Given the description of an element on the screen output the (x, y) to click on. 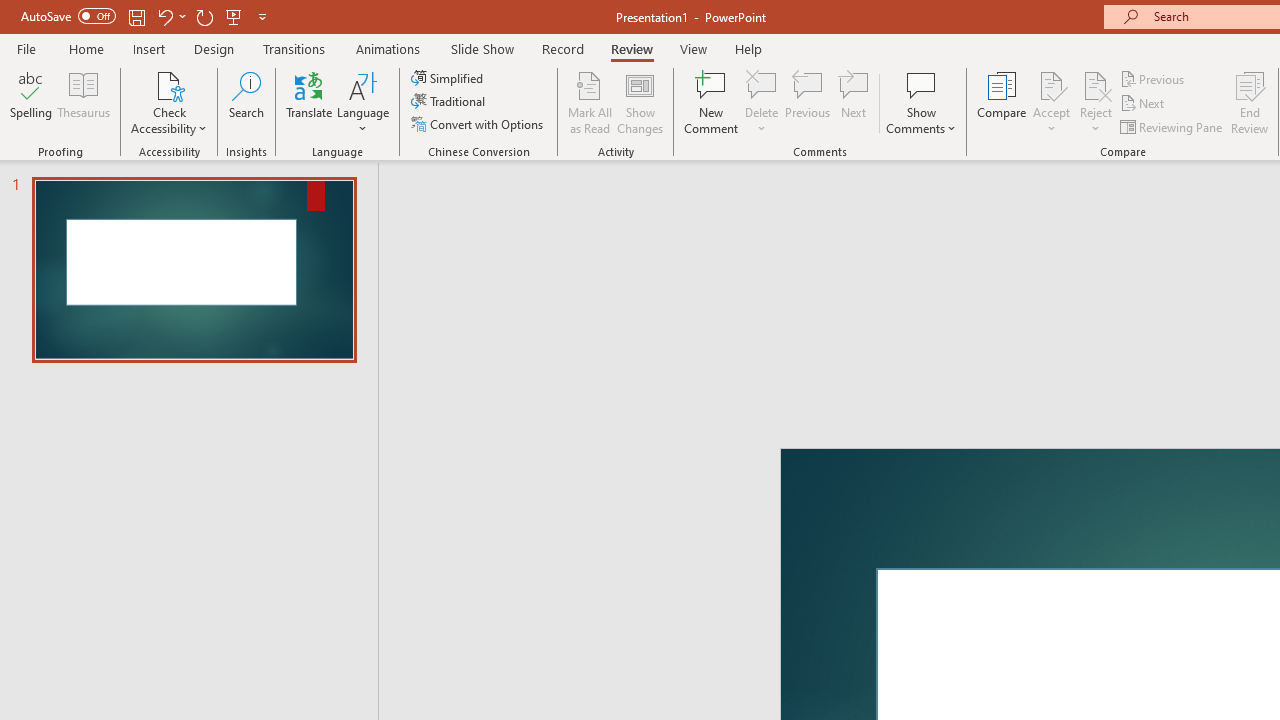
Delete (762, 102)
Mark All as Read (589, 102)
Next (1144, 103)
Delete (762, 84)
Thesaurus... (83, 102)
Show Changes (639, 102)
Check Accessibility (169, 84)
End Review (1249, 102)
Previous (1153, 78)
Show Comments (921, 84)
